Given the description of an element on the screen output the (x, y) to click on. 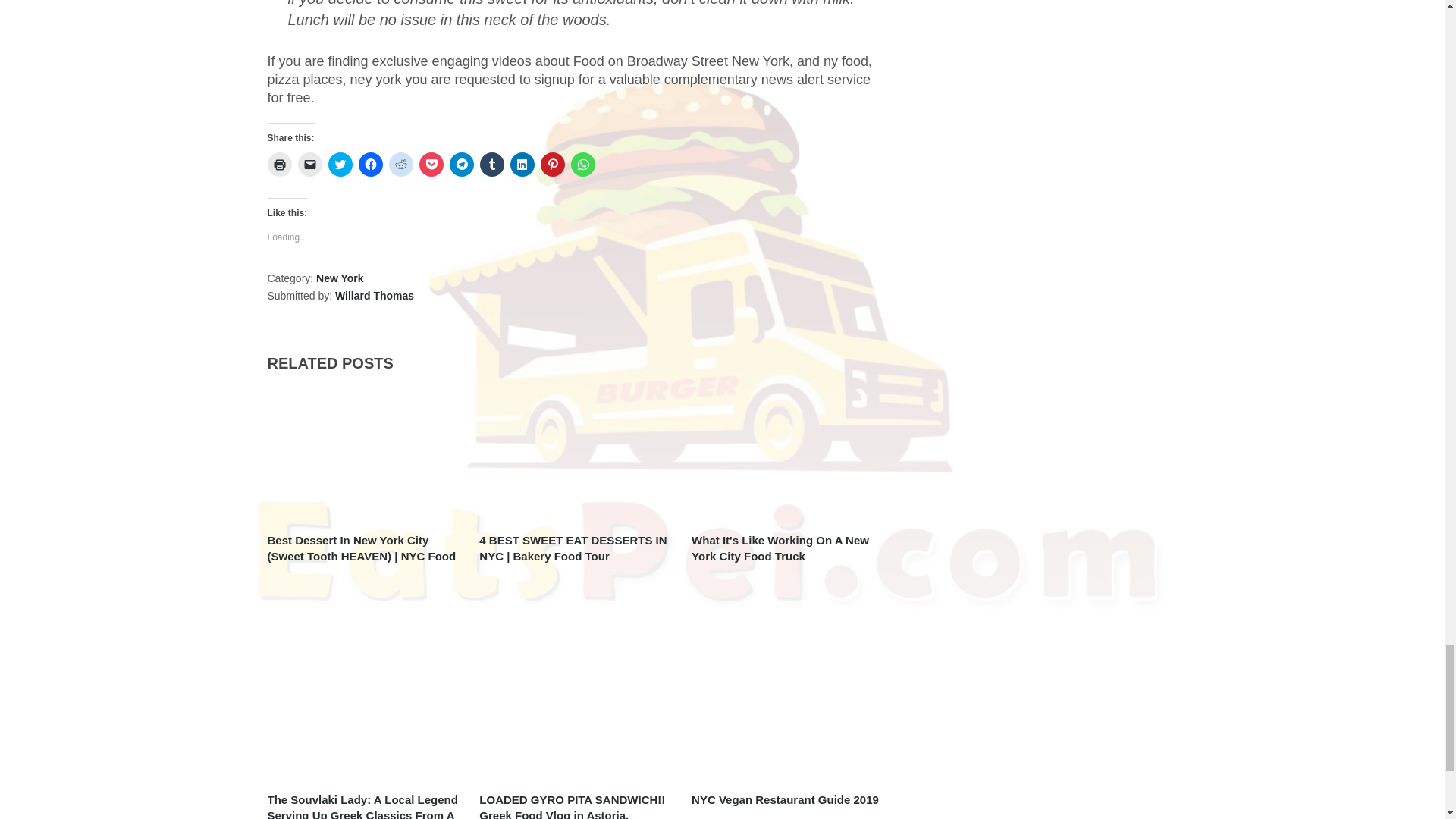
Click to share on Telegram (460, 164)
Click to share on Facebook (369, 164)
Click to share on Pinterest (552, 164)
Click to share on Twitter (339, 164)
Click to share on Reddit (400, 164)
Click to print (278, 164)
Click to share on WhatsApp (582, 164)
Click to email a link to a friend (309, 164)
Click to share on Pocket (430, 164)
Click to share on Tumblr (491, 164)
